Given the description of an element on the screen output the (x, y) to click on. 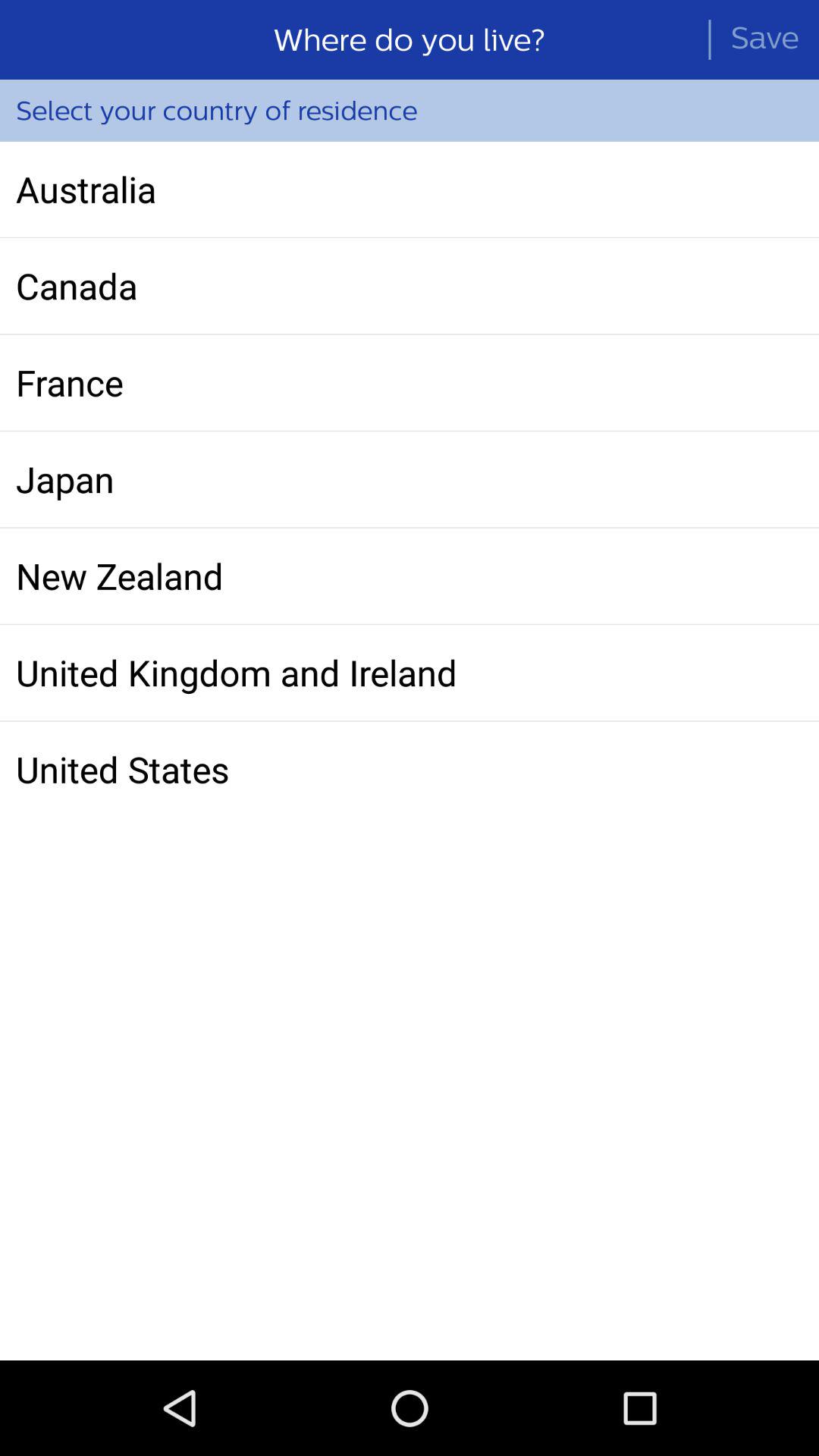
swipe to the new zealand item (409, 575)
